Given the description of an element on the screen output the (x, y) to click on. 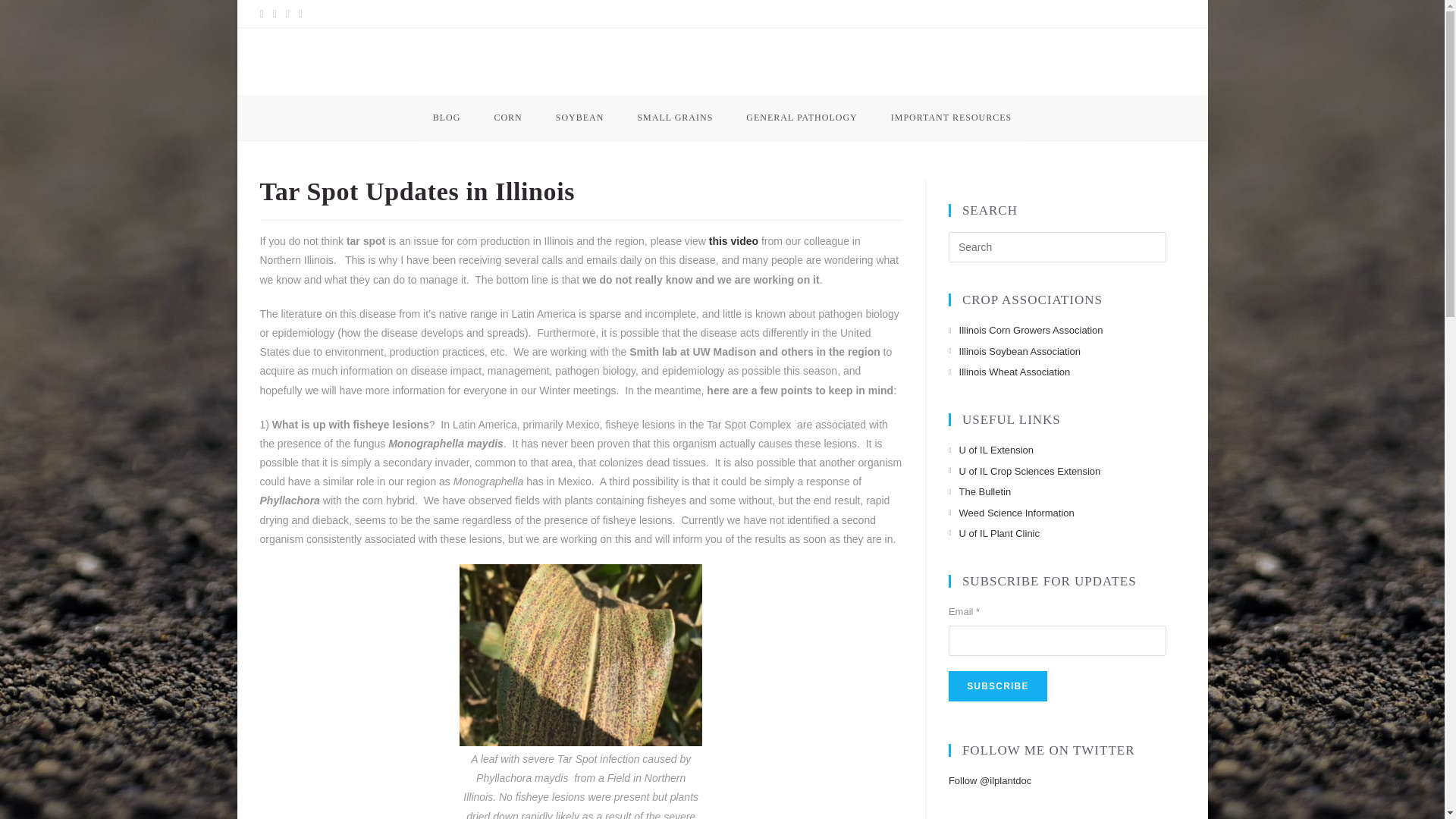
Contact (1160, 13)
SOYBEAN (579, 117)
SMALL GRAINS (674, 117)
BLOG (446, 117)
Illinois Corn Growers Association (1026, 330)
Weed Science Information (1011, 512)
The Bulletin (979, 491)
U of IL Plant Clinic (994, 533)
CORN (507, 117)
Home (1055, 13)
GENERAL PATHOLOGY (801, 117)
About (1105, 13)
this video (733, 241)
U of IL Crop Sciences Extension (1024, 470)
IMPORTANT RESOURCES (951, 117)
